Given the description of an element on the screen output the (x, y) to click on. 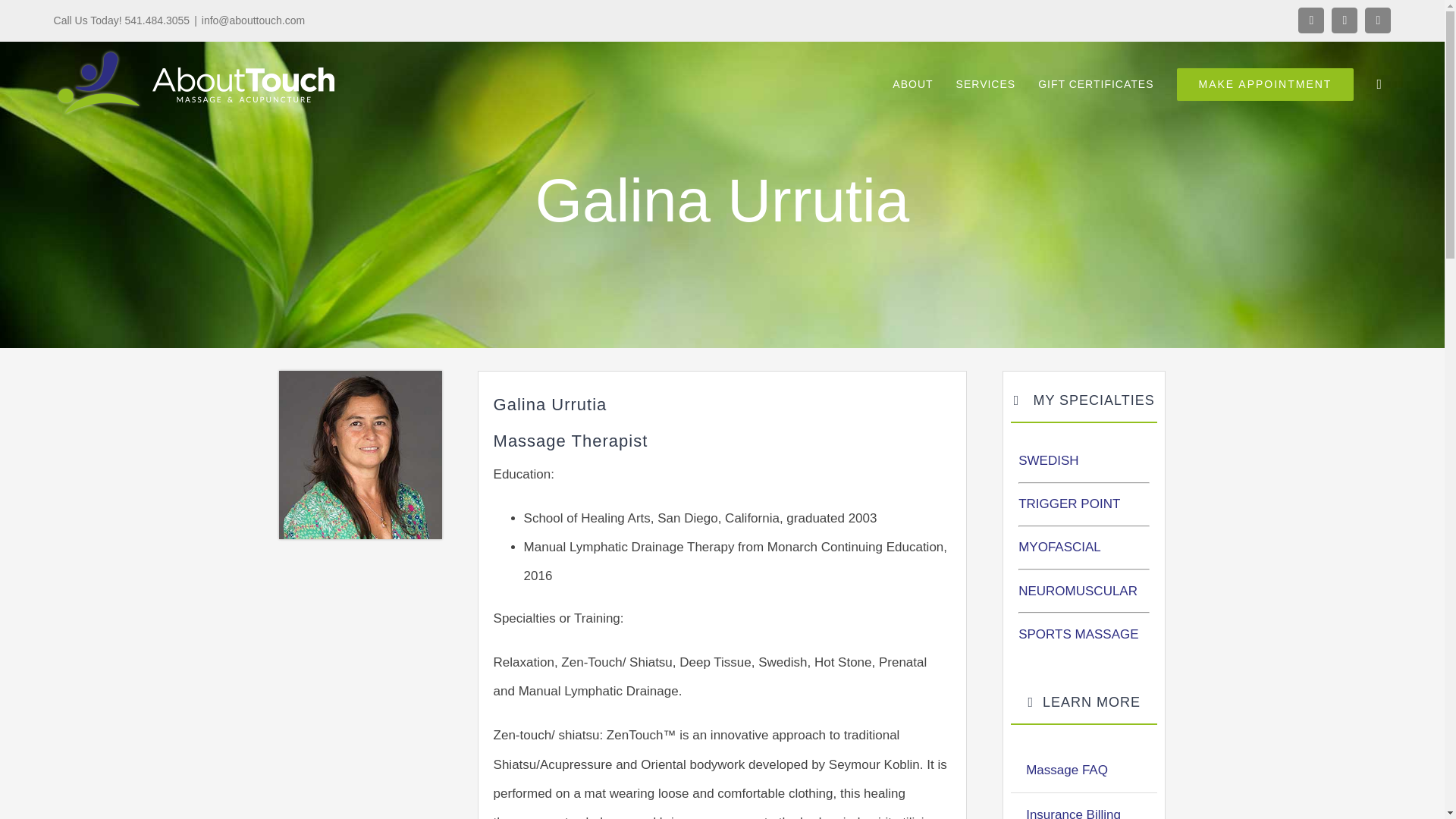
Pinterest (1344, 20)
MAKE APPOINTMENT (1265, 83)
GIFT CERTIFICATES (1095, 83)
LinkedIn (1377, 20)
gurrutria (360, 454)
Facebook (1310, 20)
